Given the description of an element on the screen output the (x, y) to click on. 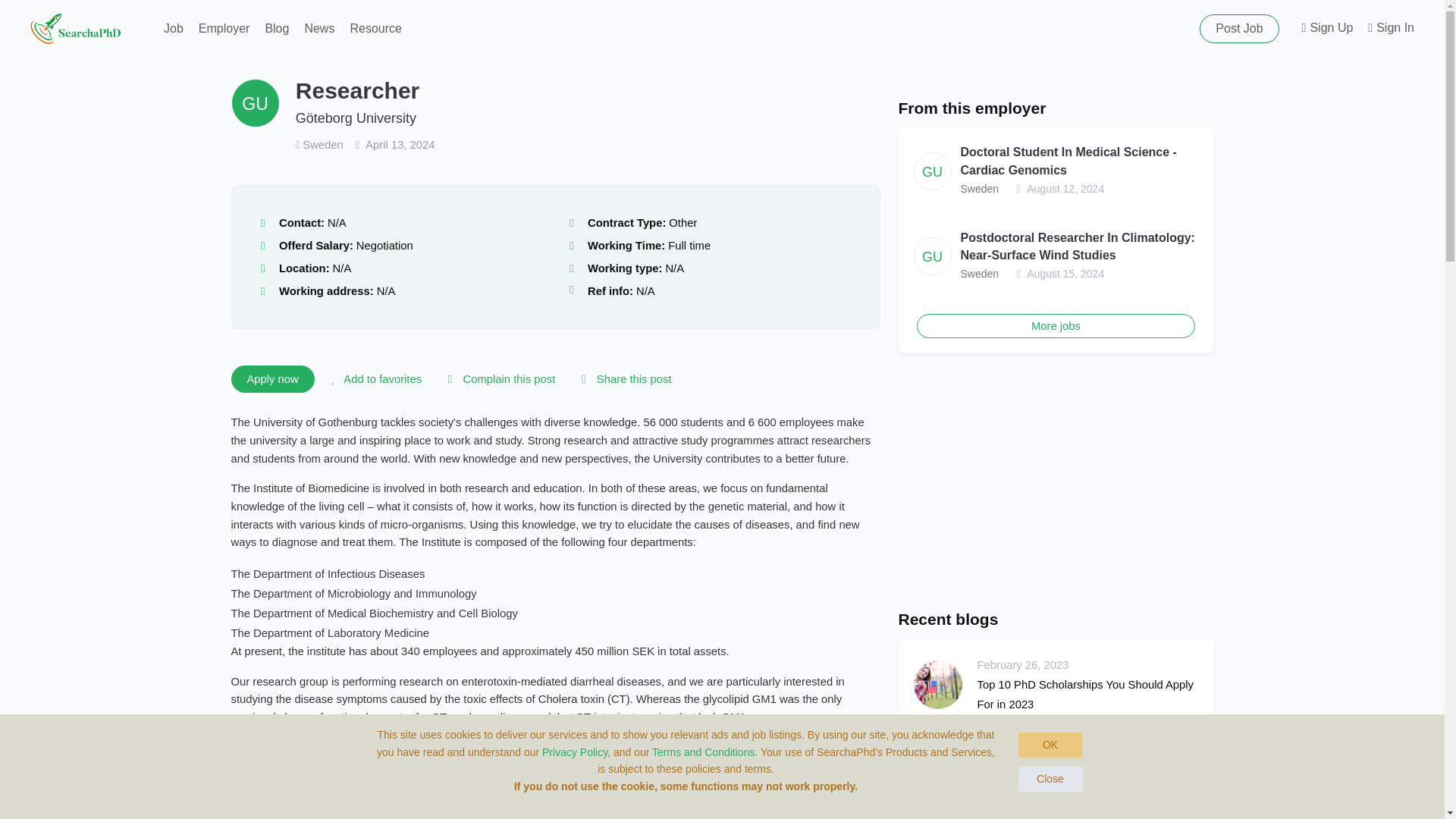
Post Job (1238, 28)
Job (172, 28)
Advertisement (1055, 480)
Resource (375, 28)
Complain this post (498, 379)
Employer (223, 28)
Sign In (1390, 28)
News (319, 28)
Sign Up (1327, 28)
Blog (277, 28)
Apply now (272, 379)
Share this post (623, 379)
Add to favorites (374, 379)
Sweden (320, 144)
